Given the description of an element on the screen output the (x, y) to click on. 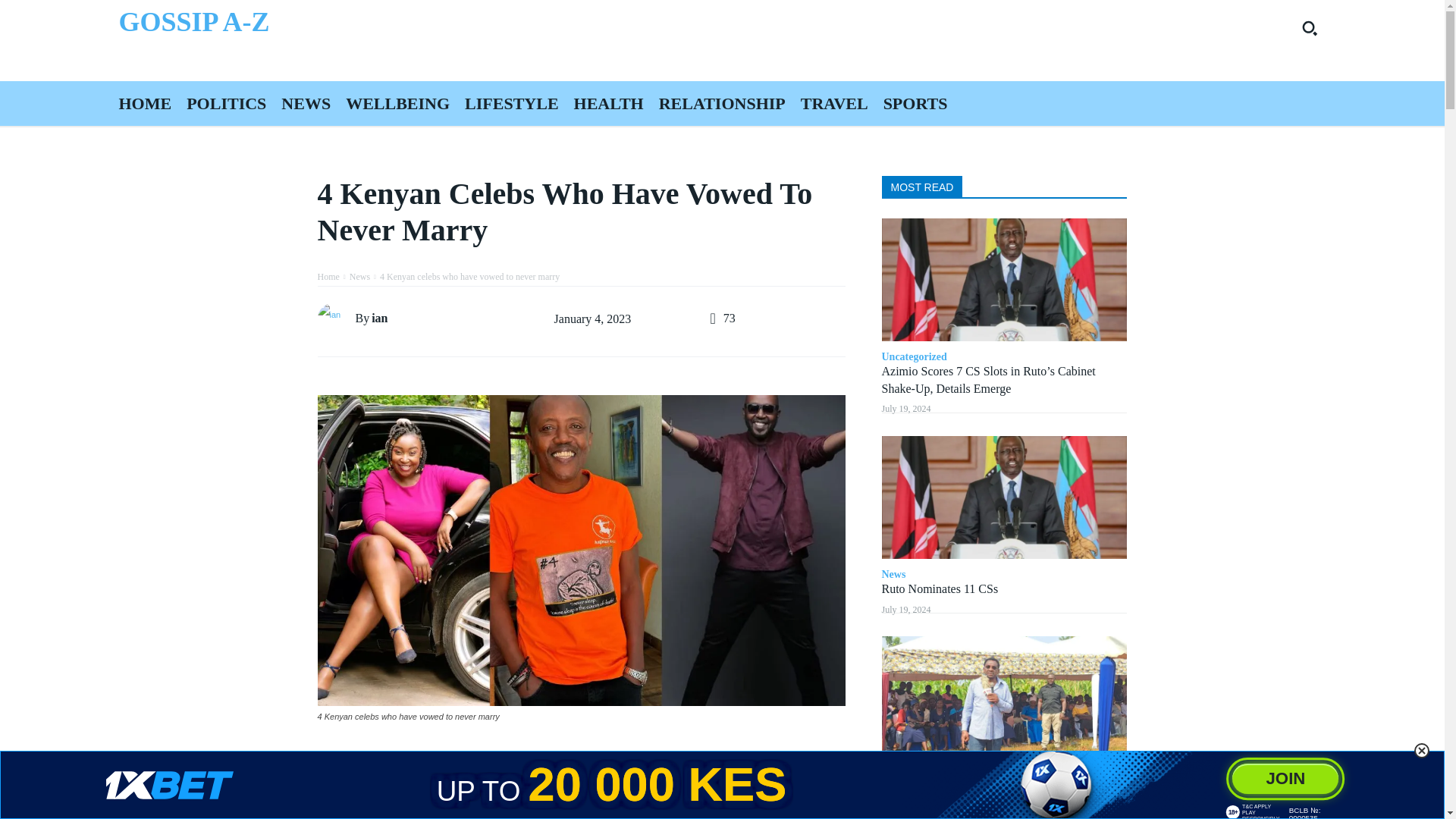
SPORTS (915, 103)
NEWS (305, 103)
RELATIONSHIP (722, 103)
TRAVEL (833, 103)
LIFESTYLE (511, 103)
HOME (144, 103)
POLITICS (226, 103)
WELLBEING (397, 103)
HEALTH (608, 103)
GOSSIP A-Z (410, 22)
